Given the description of an element on the screen output the (x, y) to click on. 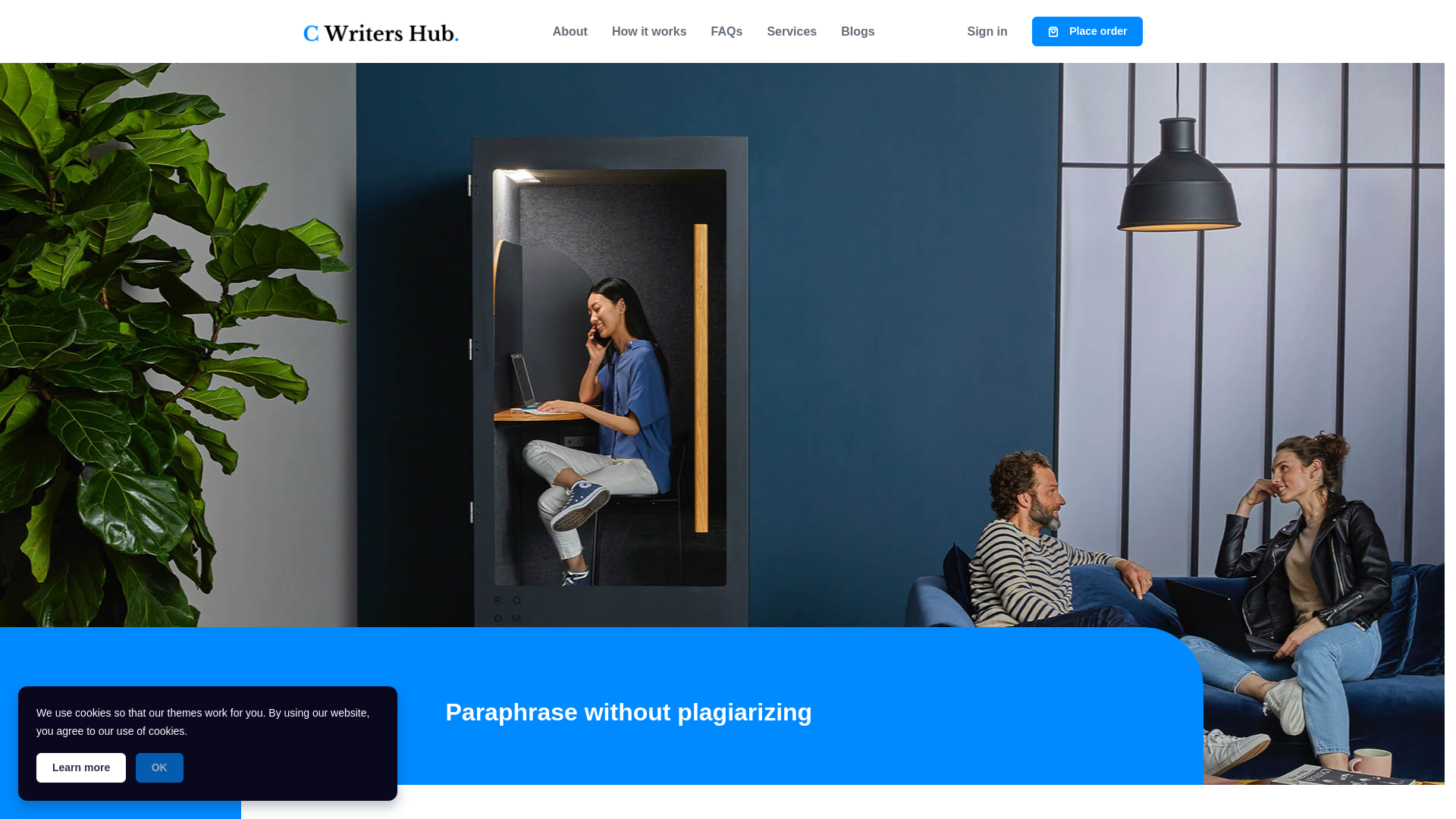
OK (159, 767)
Learn more (80, 767)
Sign in (987, 31)
FAQs (726, 31)
How it works (648, 31)
Blogs (857, 31)
About (569, 31)
Services (791, 31)
Place order (1087, 30)
